Given the description of an element on the screen output the (x, y) to click on. 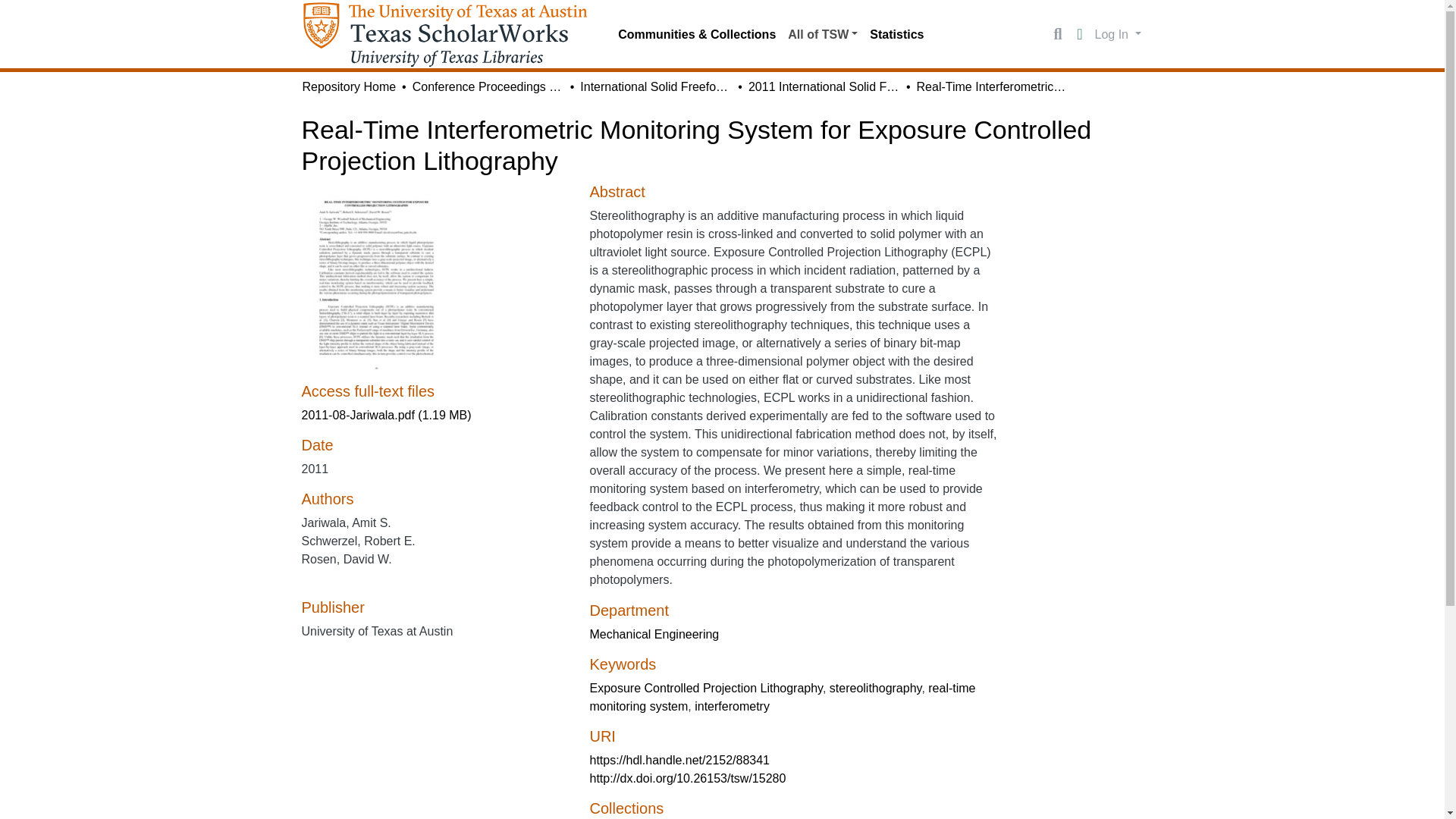
interferometry (732, 706)
International Solid Freeform Fabrication Symposium (655, 86)
Statistics (896, 34)
Search (1057, 34)
2011 International Solid Freeform Fabrication Symposium (823, 86)
Mechanical Engineering (654, 634)
real-time monitoring system (782, 696)
stereolithography (875, 687)
Log In (1117, 33)
Repository Home (348, 86)
All of TSW (822, 34)
Conference Proceedings and Journals (488, 86)
Exposure Controlled Projection Lithography (705, 687)
Language switch (1079, 34)
Statistics (896, 34)
